Given the description of an element on the screen output the (x, y) to click on. 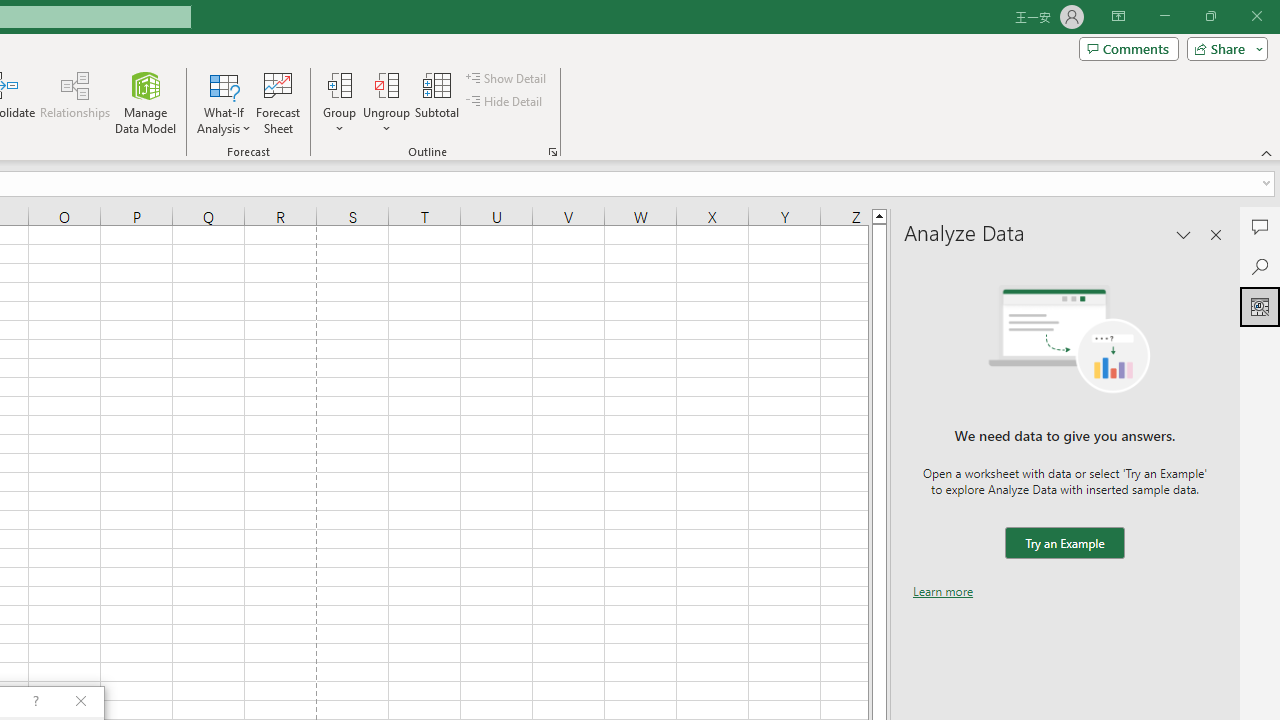
Group... (339, 102)
Ungroup... (386, 102)
More Options (386, 121)
Manage Data Model (145, 102)
Subtotal (437, 102)
Share (1223, 48)
Learn more (943, 591)
Restore Down (1210, 16)
Group... (339, 84)
Comments (1260, 226)
Forecast Sheet (278, 102)
Close pane (1215, 234)
Relationships (75, 102)
Ungroup... (386, 84)
